Given the description of an element on the screen output the (x, y) to click on. 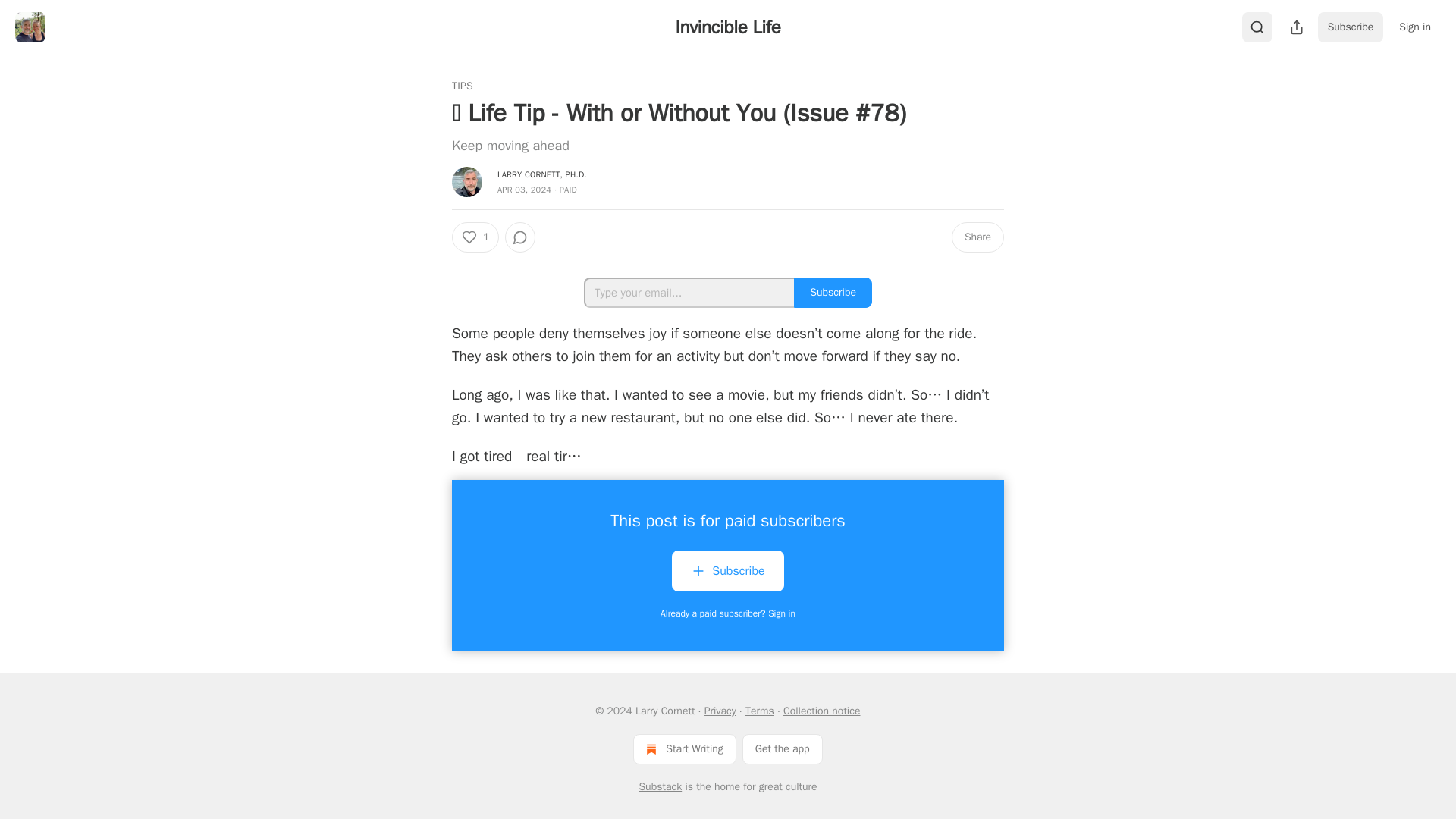
TIPS (462, 86)
Subscribe (727, 574)
Already a paid subscriber? Sign in (727, 613)
1 (475, 236)
Sign in (1415, 27)
Collection notice (821, 710)
Invincible Life (727, 26)
LARRY CORNETT, PH.D. (541, 173)
Substack (660, 786)
Subscribe (1350, 27)
Share (978, 236)
Get the app (782, 748)
Privacy (720, 710)
Subscribe (727, 570)
Subscribe (832, 292)
